Given the description of an element on the screen output the (x, y) to click on. 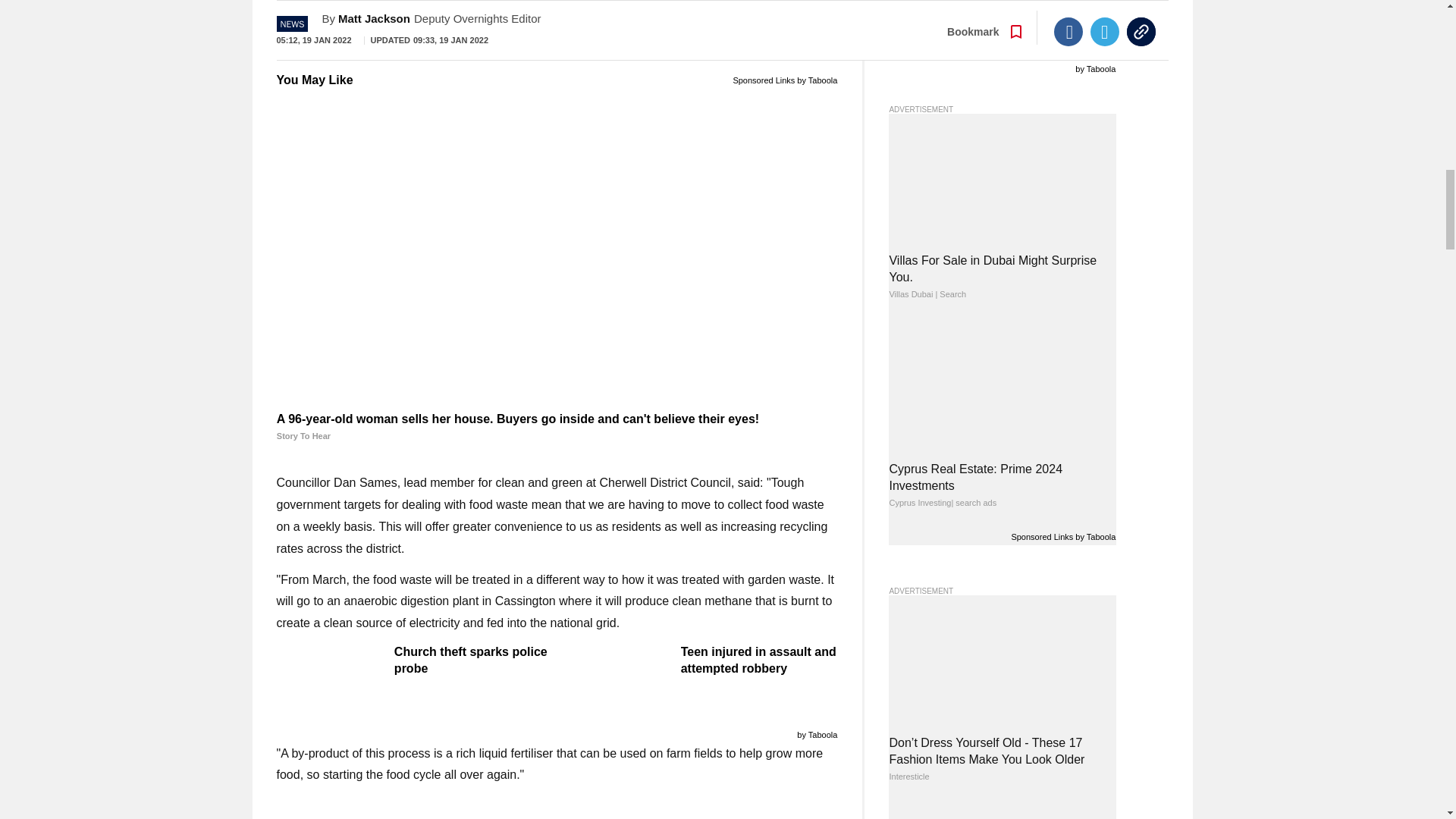
Church theft sparks police probe (413, 660)
Teen injured in assault and attempted robbery (700, 660)
